Given the description of an element on the screen output the (x, y) to click on. 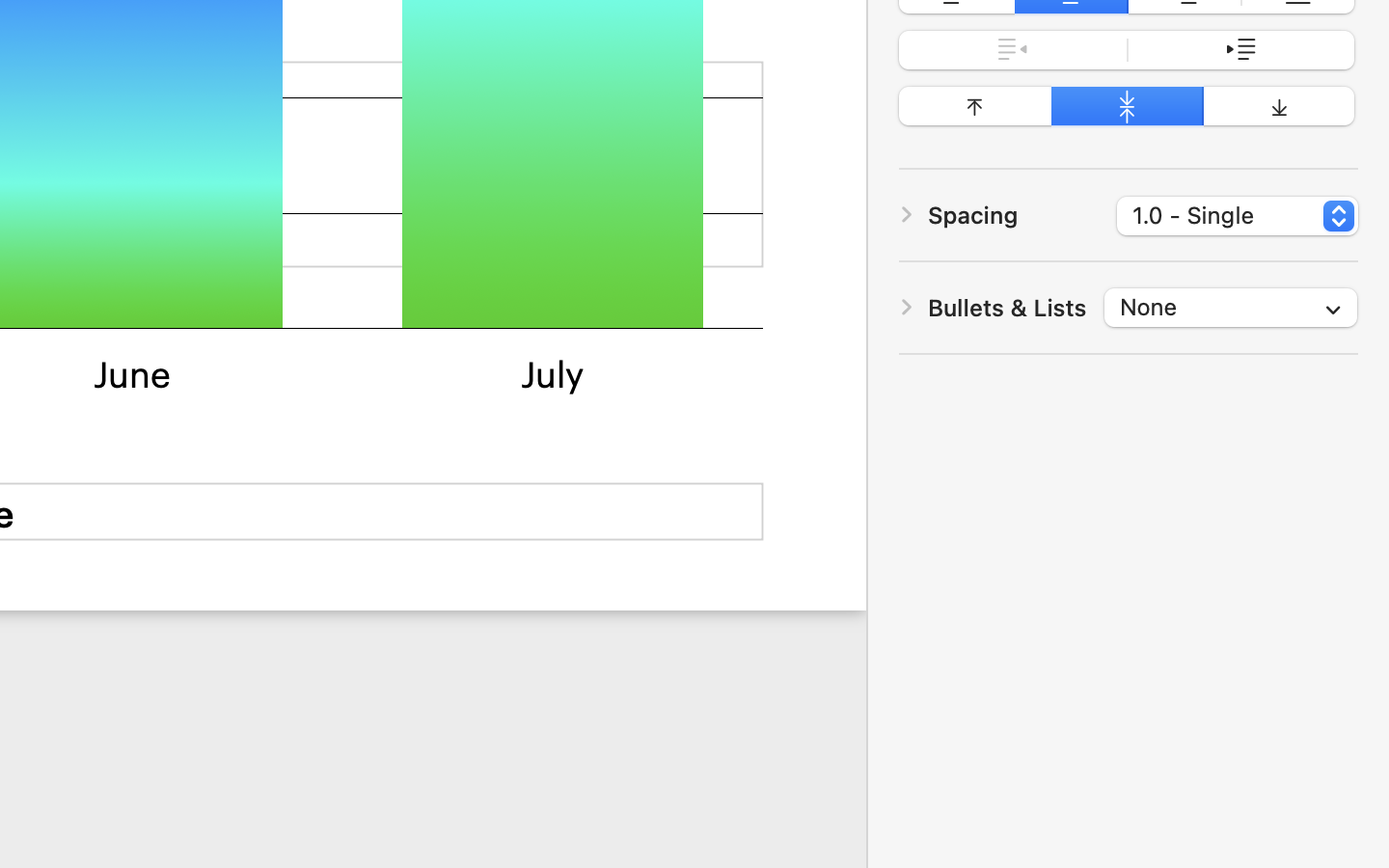
Spacing Element type: AXStaticText (973, 214)
Bullets & Lists Element type: AXStaticText (1006, 307)
